Given the description of an element on the screen output the (x, y) to click on. 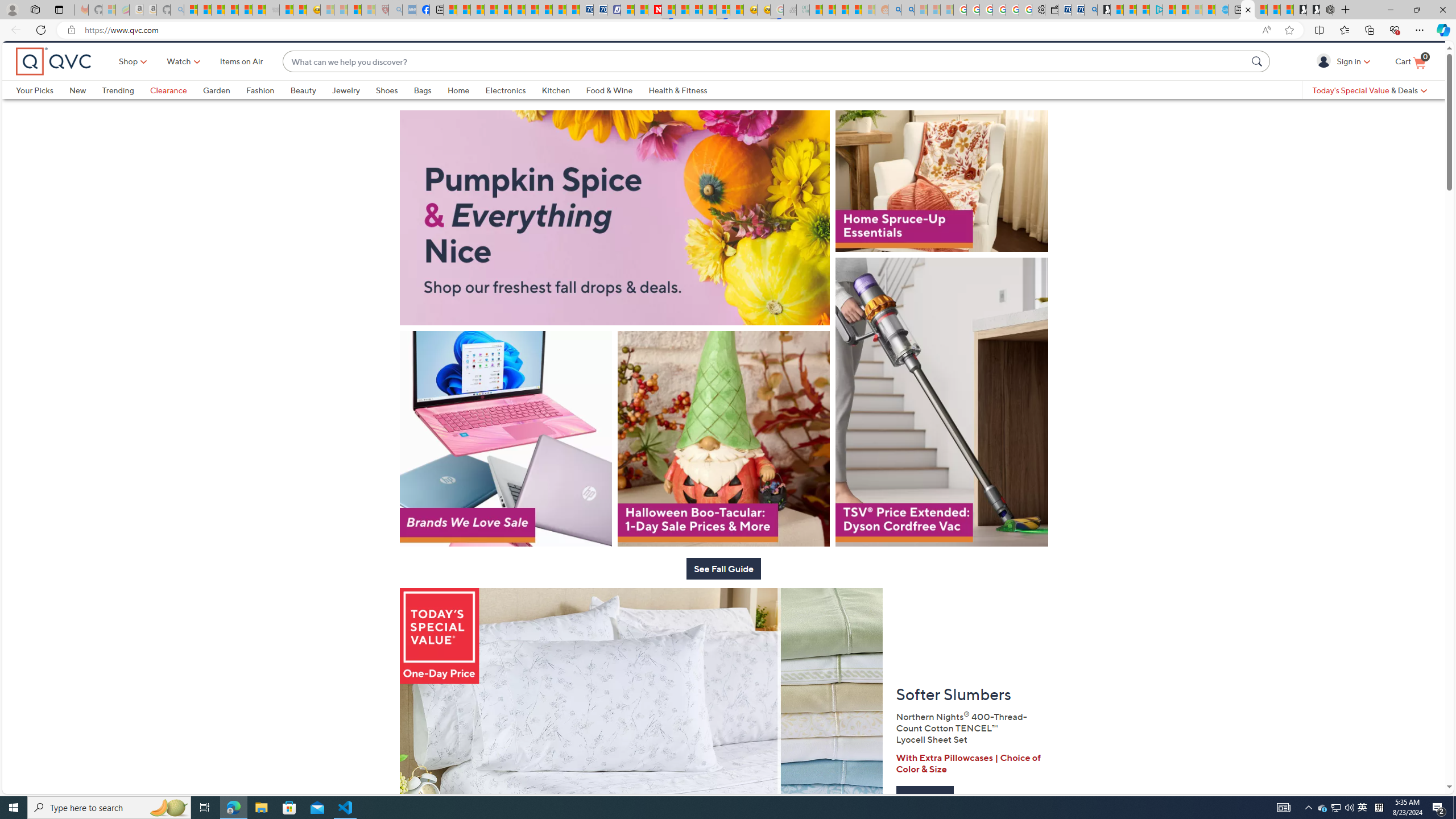
Trending (125, 109)
Today's Special Value & Deals (1369, 109)
Kitchen (563, 109)
Halloween Boo-Tacular: 1-Day Sale Prices & More (723, 473)
Clearance (168, 109)
Jewelry (345, 109)
Today's Special Value & Deals (1369, 109)
Shoes (386, 109)
